Given the description of an element on the screen output the (x, y) to click on. 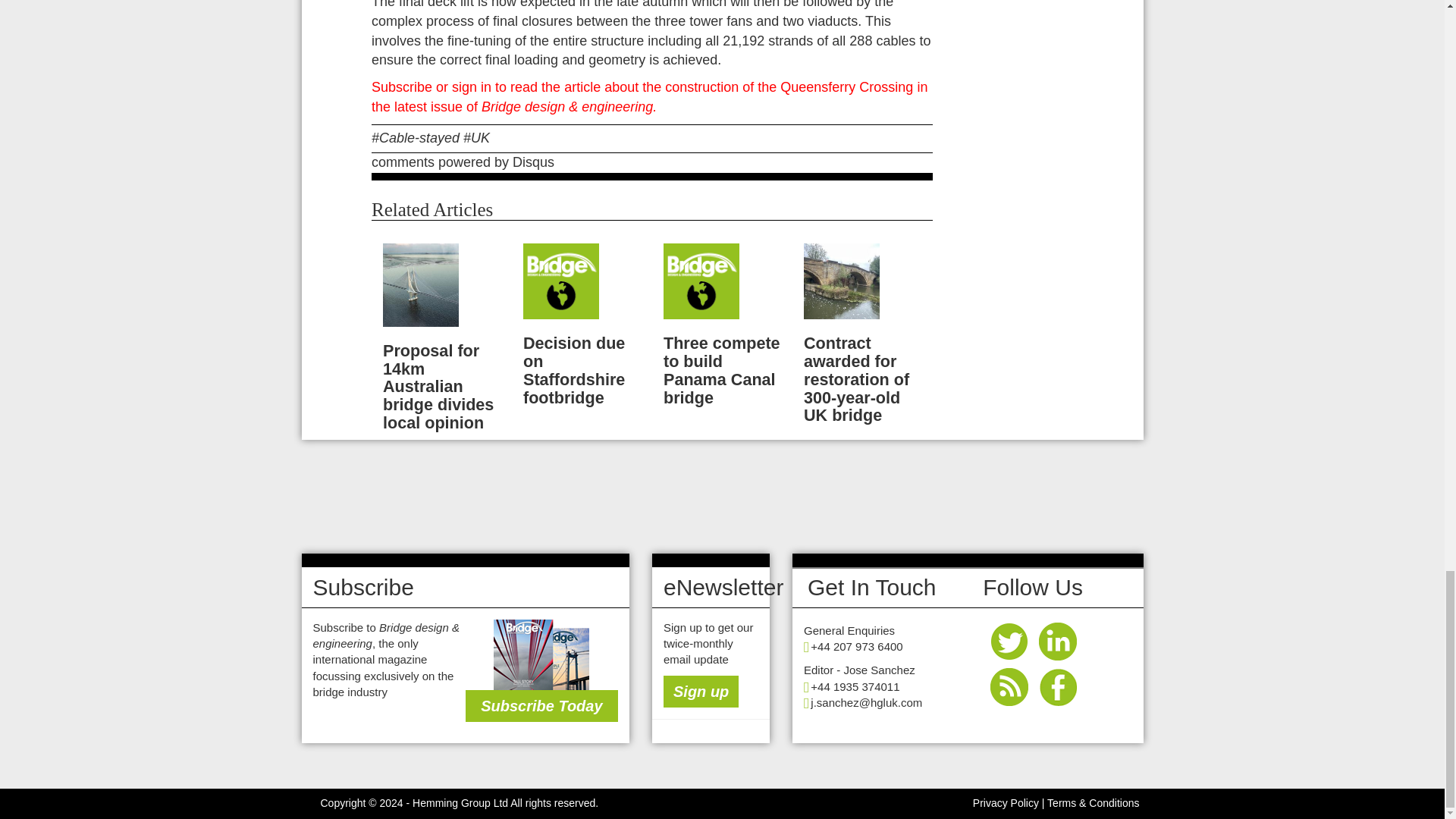
3rd party ad content (721, 496)
